Given the description of an element on the screen output the (x, y) to click on. 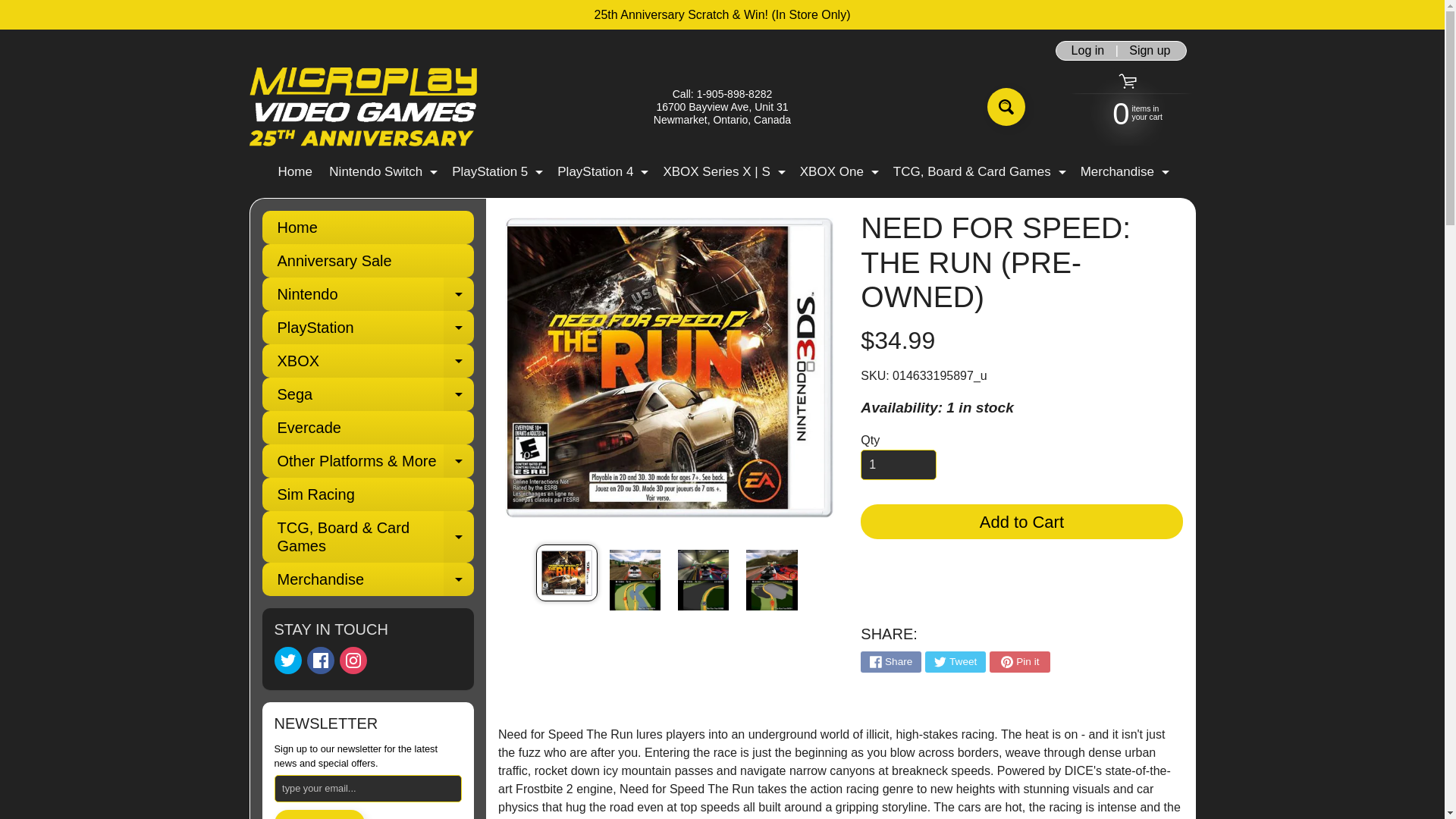
1 (601, 171)
Facebook (898, 464)
Search (320, 660)
Skip to content (1006, 106)
Home (22, 8)
Sign up (294, 171)
Search (1149, 50)
